Given the description of an element on the screen output the (x, y) to click on. 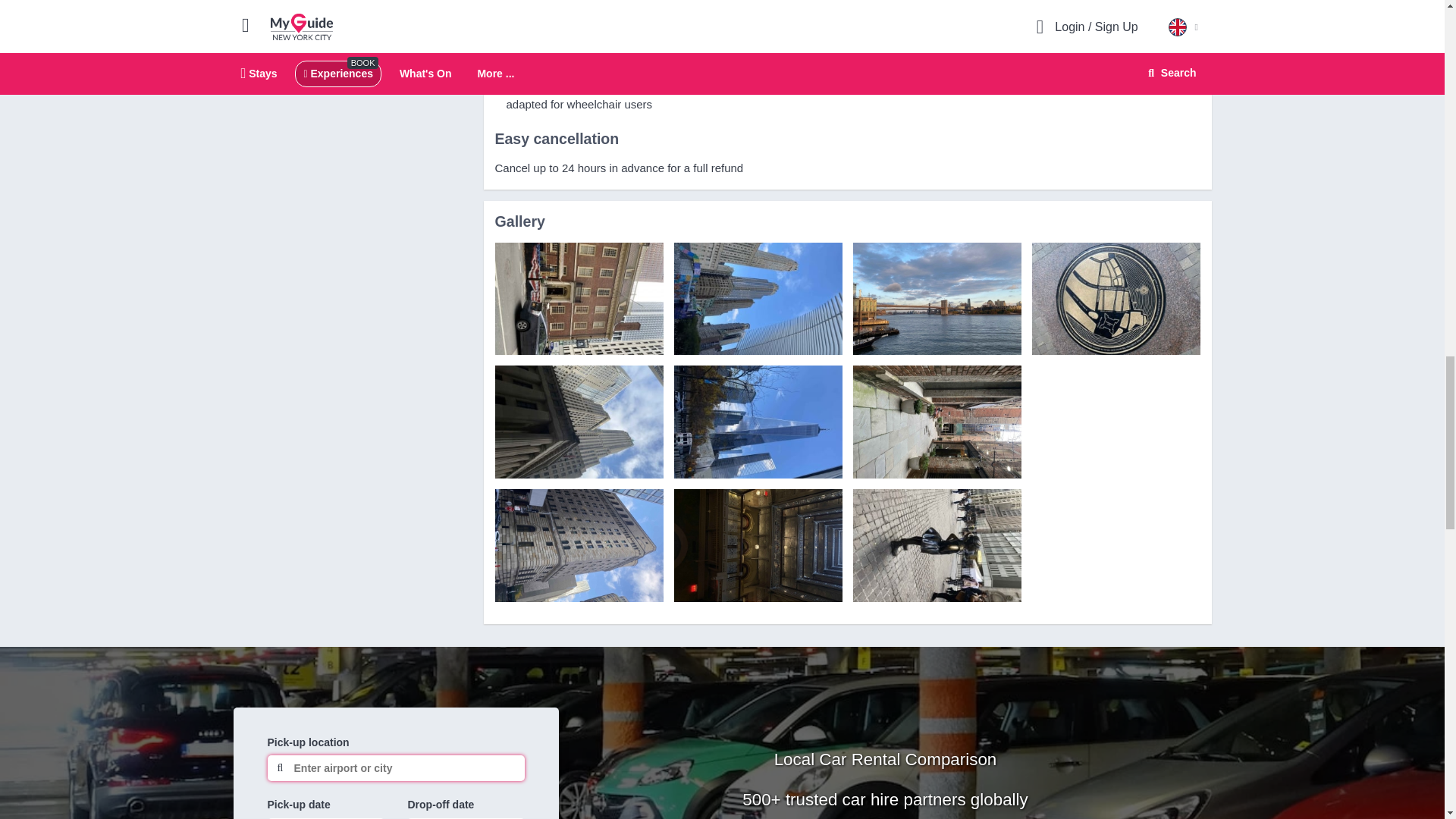
New York City: French South of Manhattan Walking Tour (578, 298)
